Given the description of an element on the screen output the (x, y) to click on. 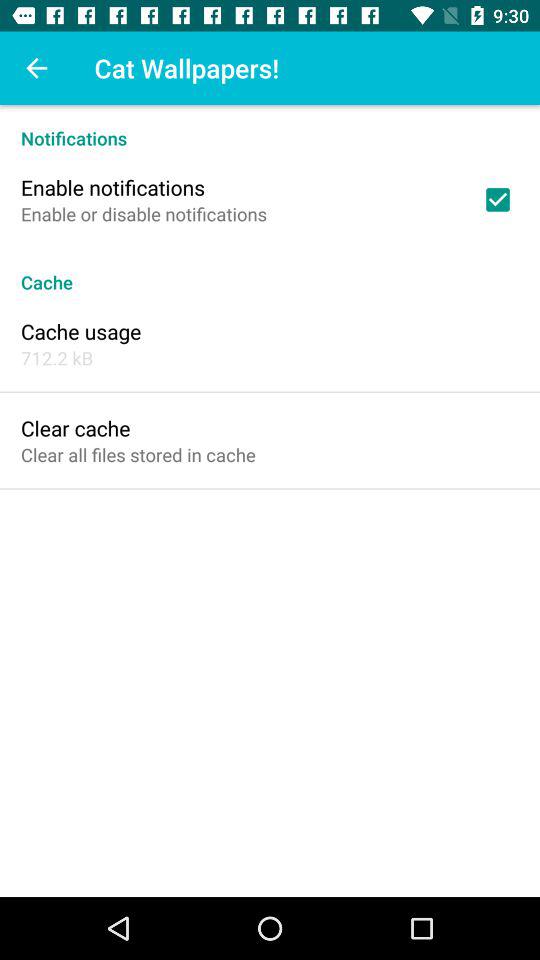
press cache usage icon (81, 331)
